Given the description of an element on the screen output the (x, y) to click on. 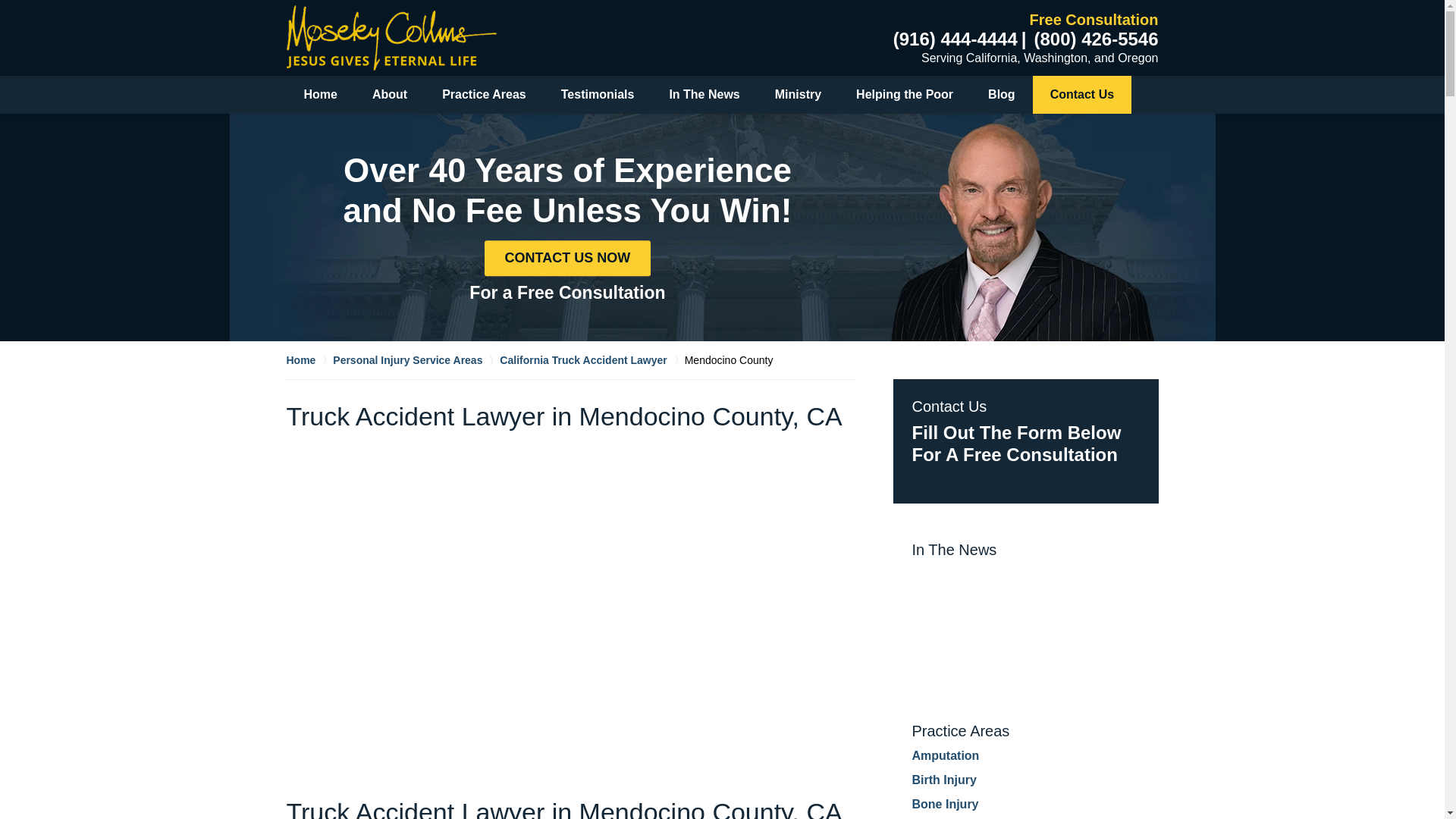
CONTACT US NOW (567, 258)
About (390, 94)
Home (309, 359)
Ministry (797, 94)
In The News (703, 94)
Personal Injury Service Areas (416, 359)
Practice Areas (484, 94)
California Truck Accident Lawyer (591, 359)
Testimonials (597, 94)
Bone Injury (944, 803)
